Given the description of an element on the screen output the (x, y) to click on. 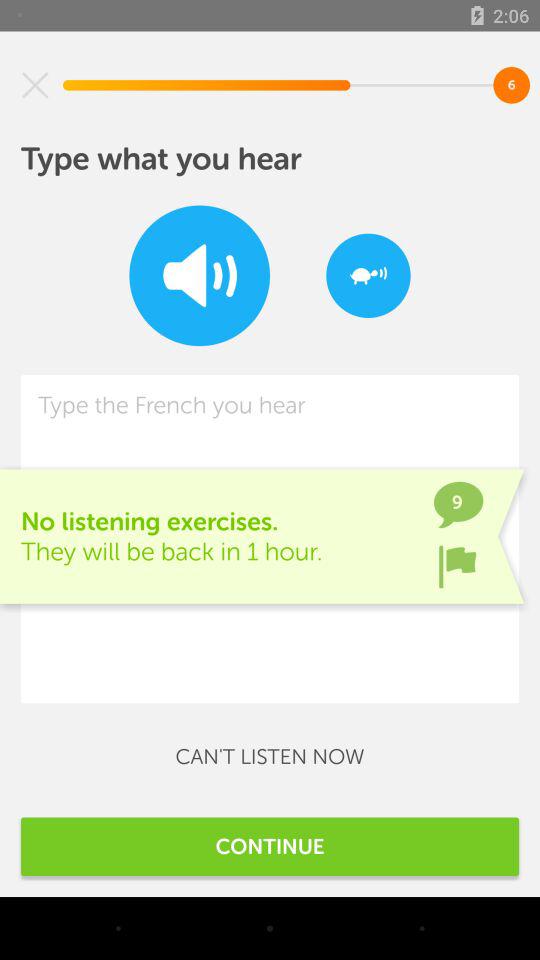
select item above the type what you item (35, 85)
